Given the description of an element on the screen output the (x, y) to click on. 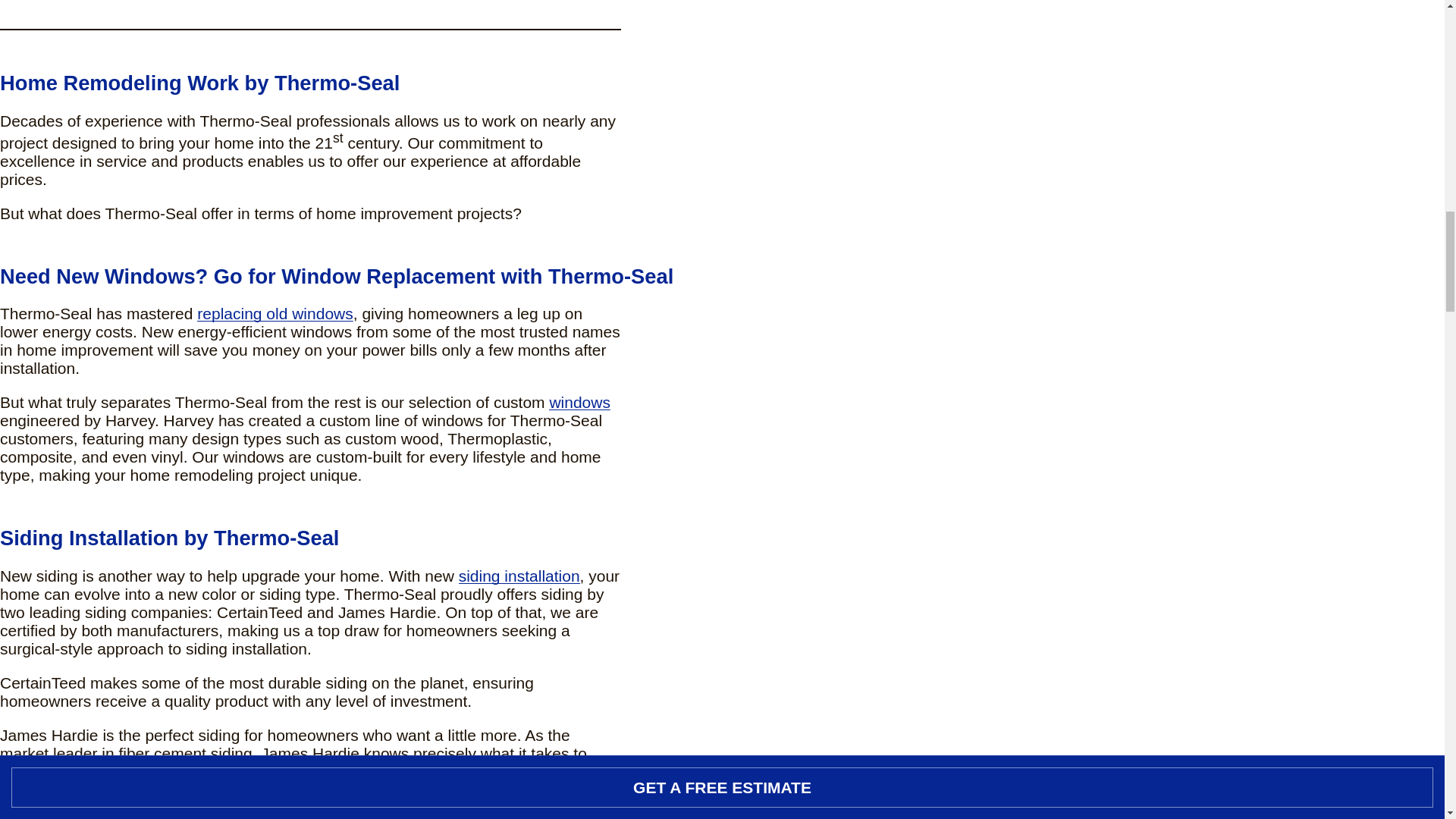
siding installation (518, 575)
windows (579, 402)
replacing old windows (274, 313)
